Given the description of an element on the screen output the (x, y) to click on. 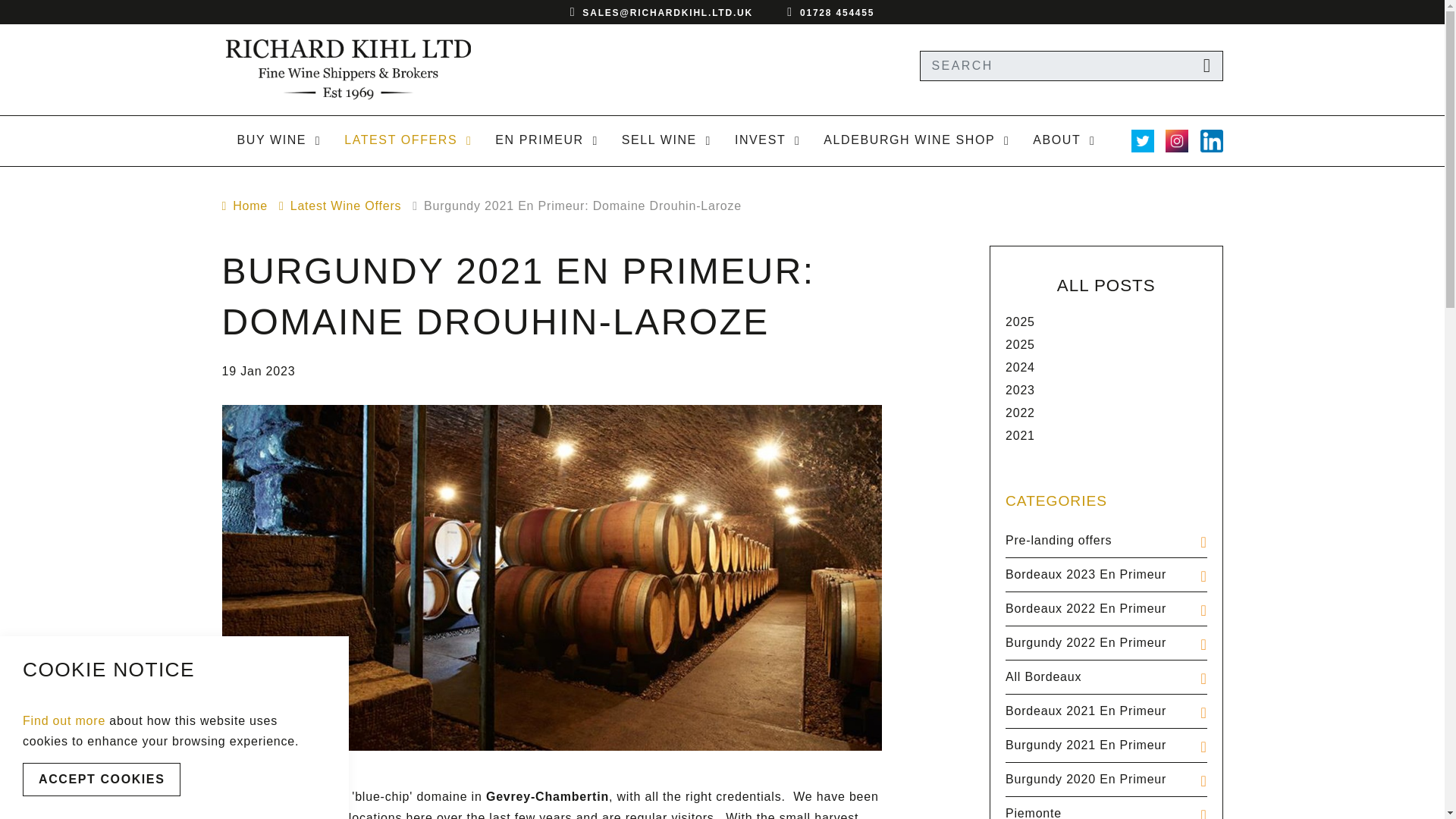
Skip to main content (722, 14)
01728 454455 (837, 12)
Richard Kihl Fine Wines (347, 69)
LATEST OFFERS (404, 138)
Cookies (63, 720)
EN PRIMEUR (542, 138)
BUY WINE (275, 138)
Richard Kihl Fine Wines (347, 69)
